Given the description of an element on the screen output the (x, y) to click on. 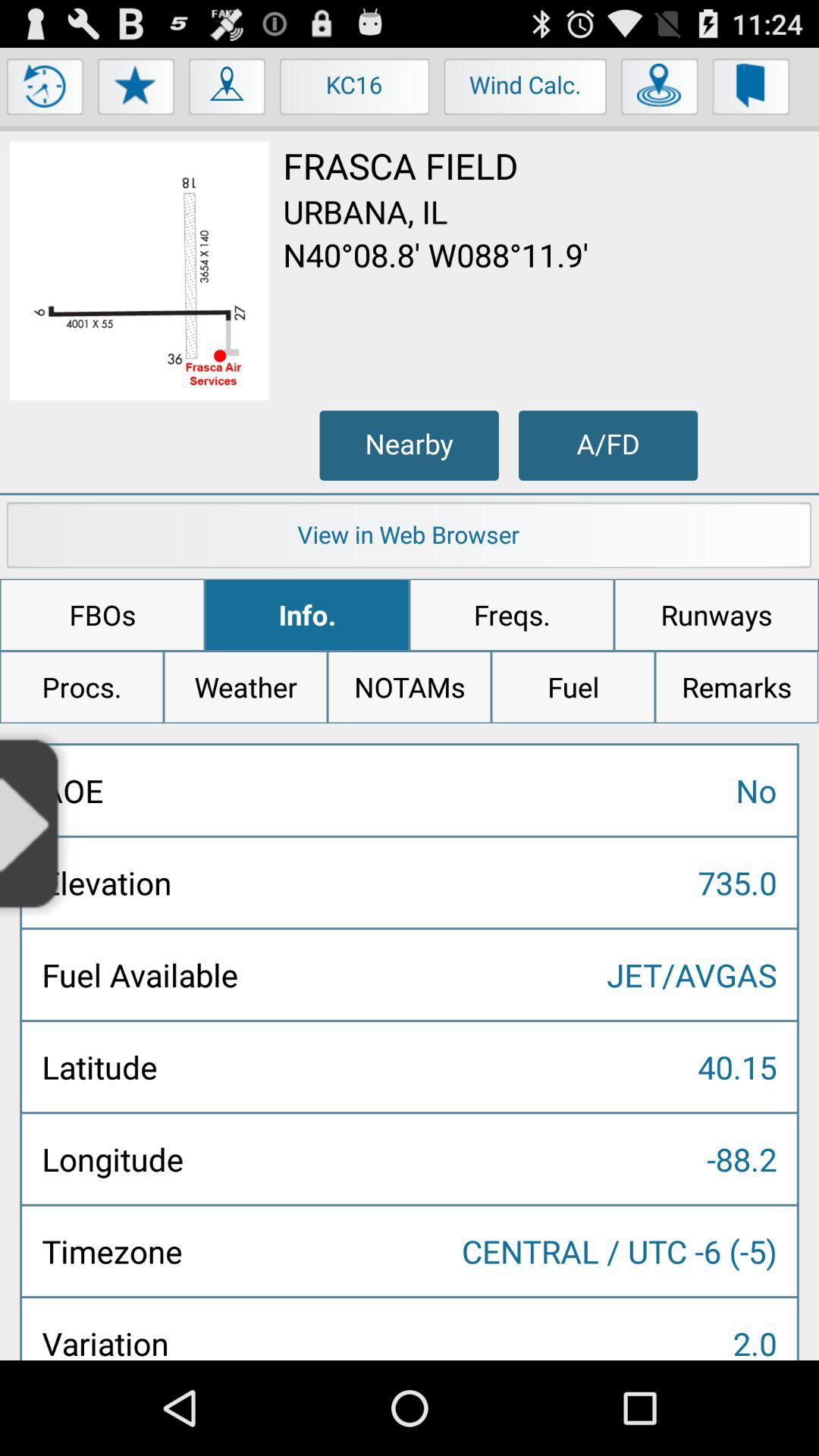
press the icon next to freqs. app (306, 615)
